Given the description of an element on the screen output the (x, y) to click on. 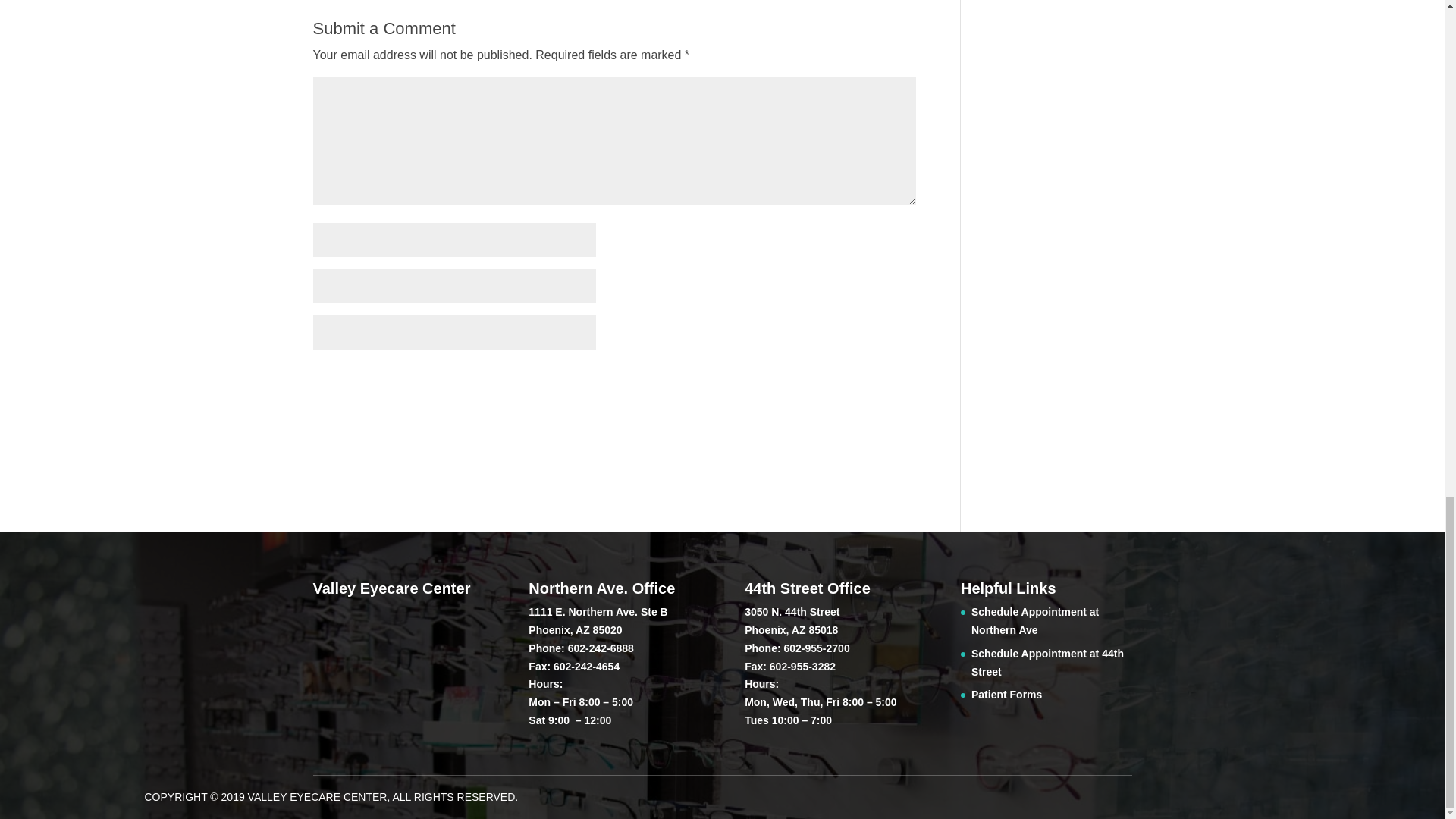
Submit Comment (840, 380)
Submit Comment (840, 380)
